Given the description of an element on the screen output the (x, y) to click on. 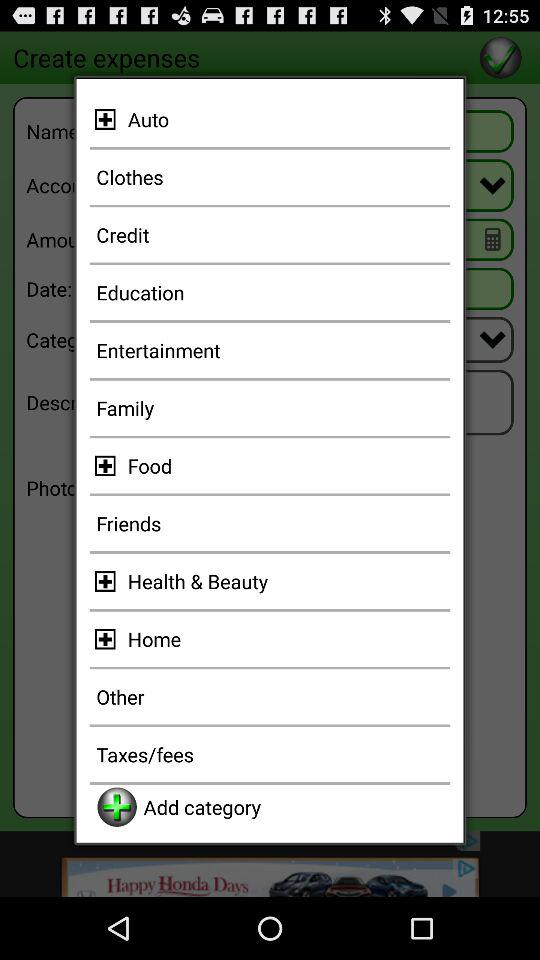
add new home category (108, 638)
